Given the description of an element on the screen output the (x, y) to click on. 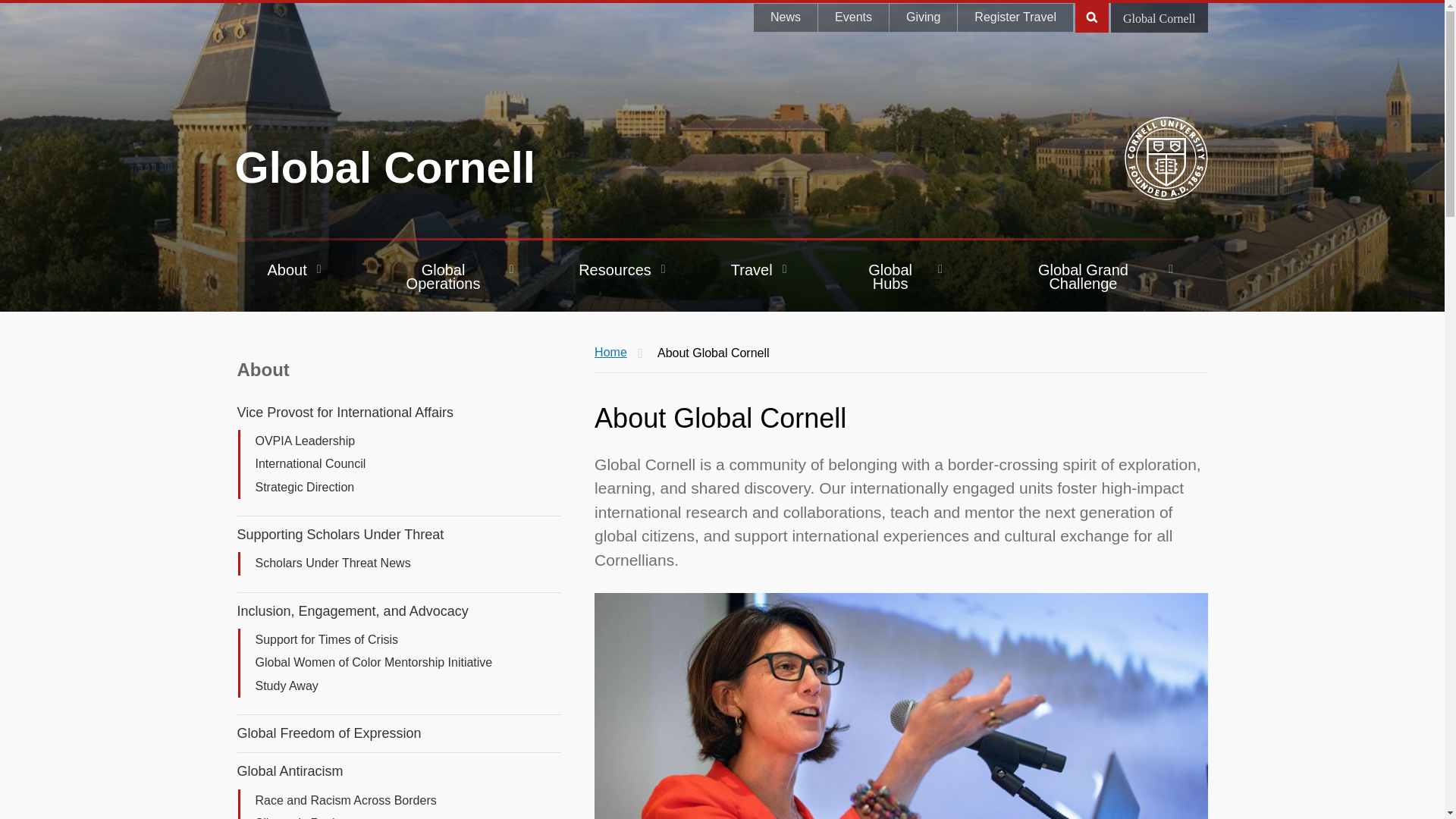
News (785, 17)
Toggle Search Form (1091, 16)
Global Operations (451, 276)
Register Travel (1015, 17)
Giving (922, 17)
Global Cornell (384, 166)
Events (853, 17)
Global Cornell (1159, 17)
About (295, 276)
